Given the description of an element on the screen output the (x, y) to click on. 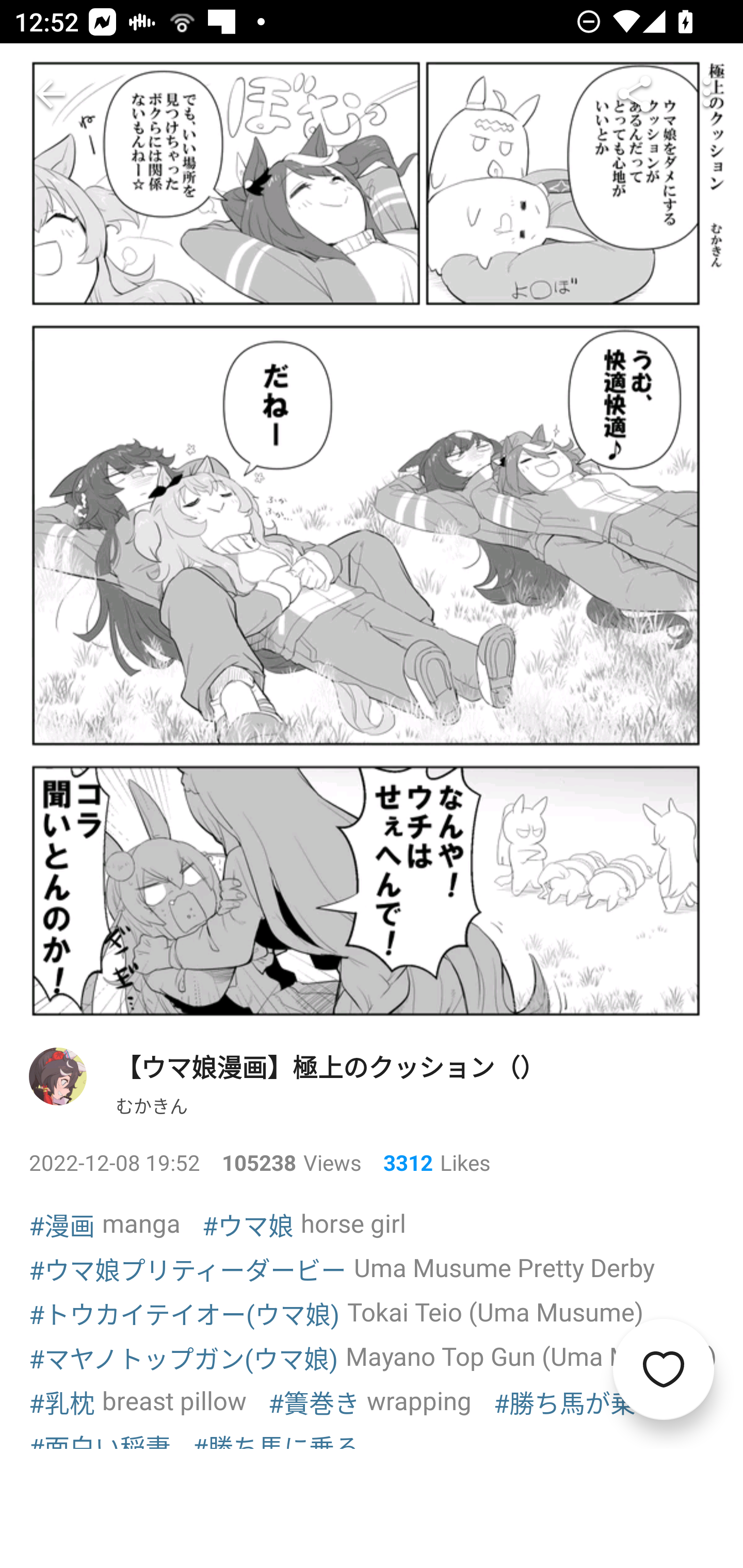
Share (634, 93)
More options (706, 93)
むかきん (151, 1104)
3312 (400, 1162)
#漫画 (61, 1224)
manga (141, 1222)
#ウマ娘 (247, 1224)
horse girl (353, 1222)
#ウマ娘プリティーダービー (187, 1268)
Uma Musume Pretty Derby (504, 1266)
#トウカイテイオー(ウマ娘) (184, 1313)
Tokai Teio (Uma Musume) (495, 1311)
#マヤノトップガン(ウマ娘) (183, 1357)
Mayano Top Gun (Uma Musume) (530, 1356)
#乳枕 (61, 1401)
breast pillow (174, 1399)
#簀巻き (313, 1401)
wrapping (419, 1399)
#勝ち馬が乗る (577, 1401)
